Given the description of an element on the screen output the (x, y) to click on. 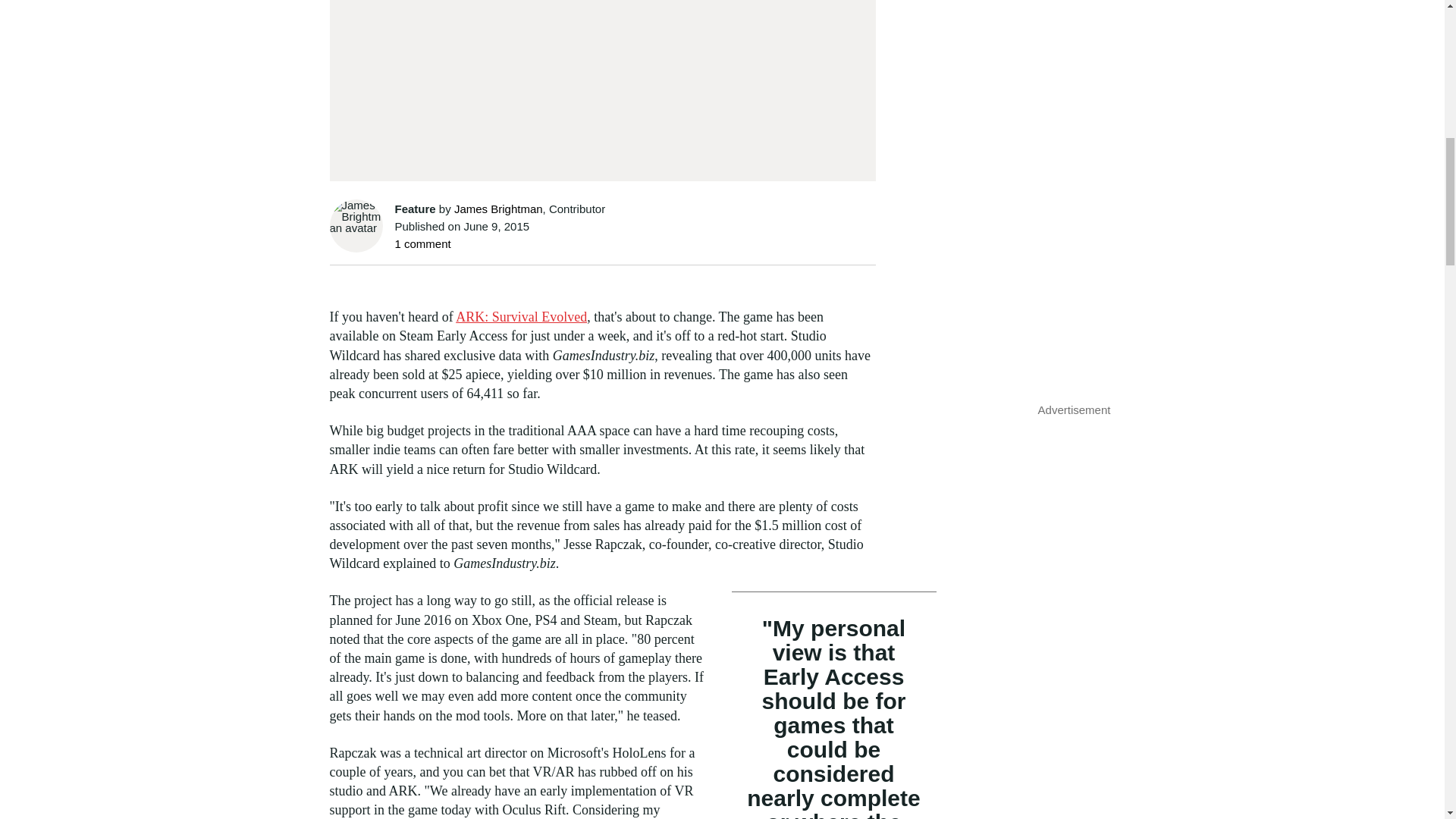
ARK: Survival Evolved (520, 316)
1 comment (421, 243)
James Brightman (498, 208)
